Given the description of an element on the screen output the (x, y) to click on. 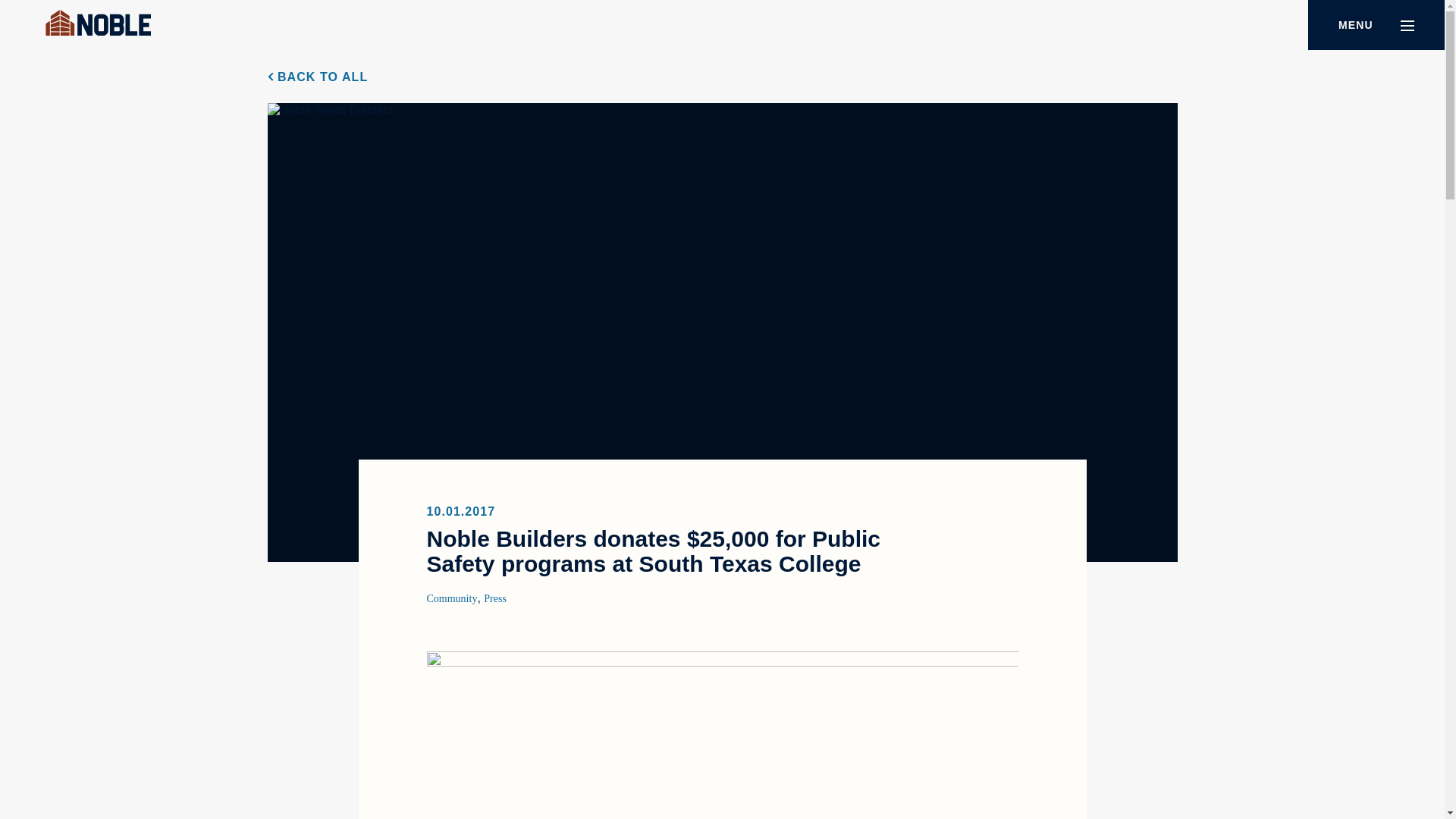
SKIP TO CONTENT (24, 15)
BACK TO ALL (317, 76)
Go (1348, 594)
Press (494, 598)
Community (451, 598)
Noble Texas Builders (98, 24)
